Given the description of an element on the screen output the (x, y) to click on. 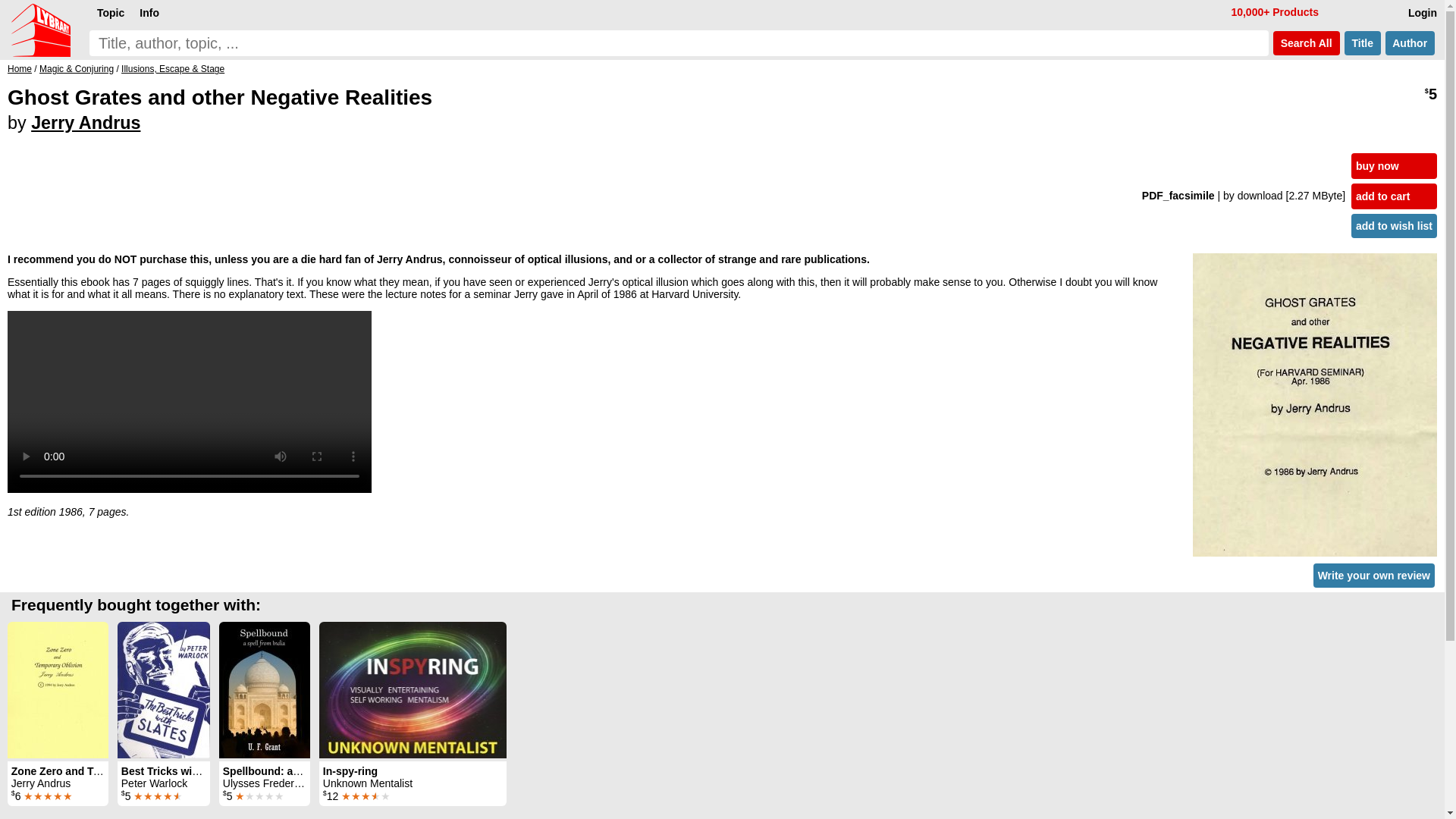
Home (19, 68)
add to wish list (1394, 225)
add to cart (1394, 196)
buy now (1394, 166)
 Search All  (1305, 43)
Write your own review (1373, 575)
 Author  (1410, 43)
 Title  (1361, 43)
Jerry Andrus (84, 122)
